Given the description of an element on the screen output the (x, y) to click on. 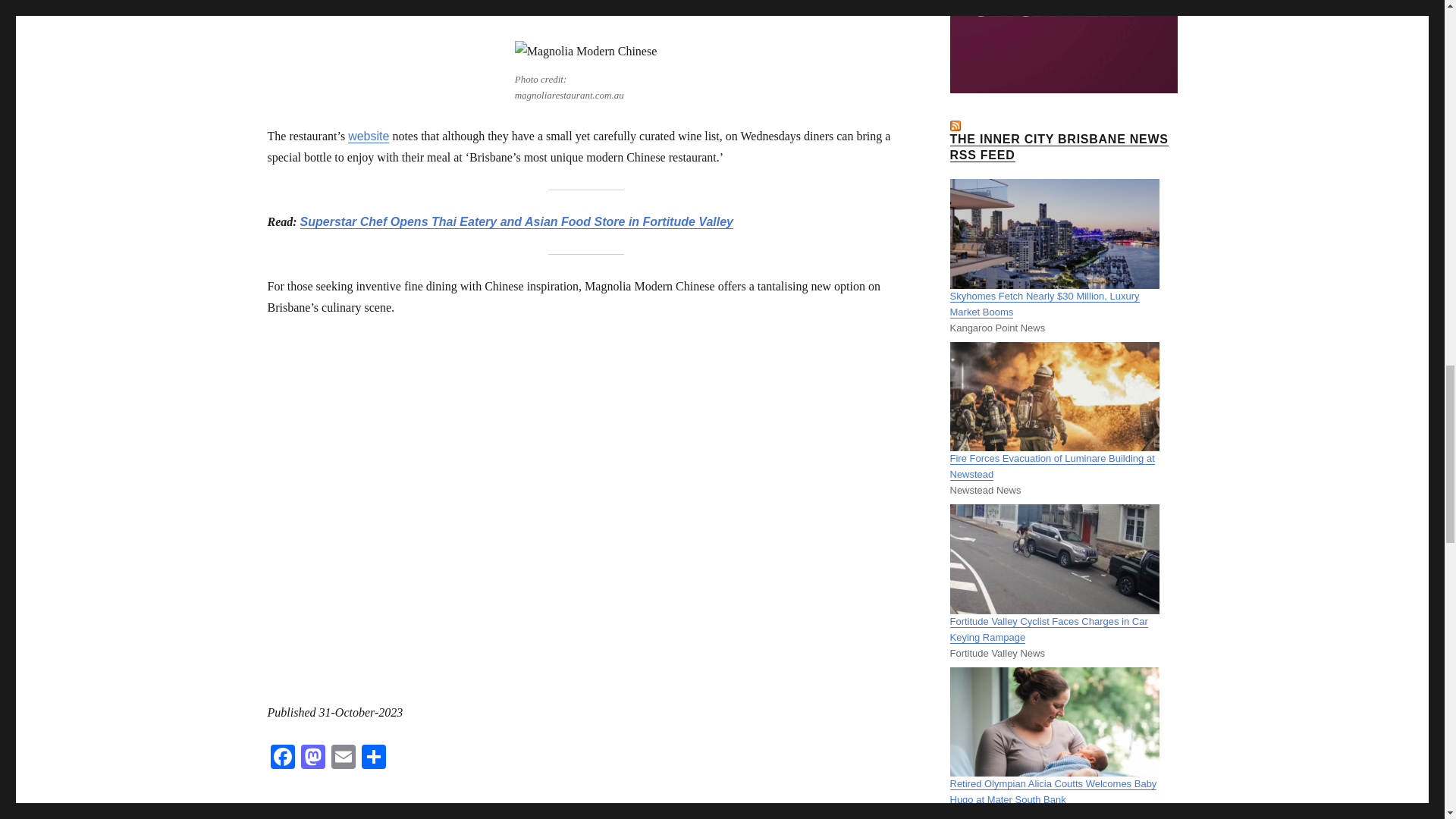
Facebook (281, 758)
Fire Forces Evacuation of Luminare Building at Newstead (1051, 465)
Email (342, 758)
Mastodon (312, 758)
website (367, 135)
Mastodon (312, 758)
Email (342, 758)
Fortitude Valley Cyclist Faces Charges in Car Keying Rampage (1048, 628)
THE INNER CITY BRISBANE NEWS RSS FEED (1058, 146)
Facebook (281, 758)
